Given the description of an element on the screen output the (x, y) to click on. 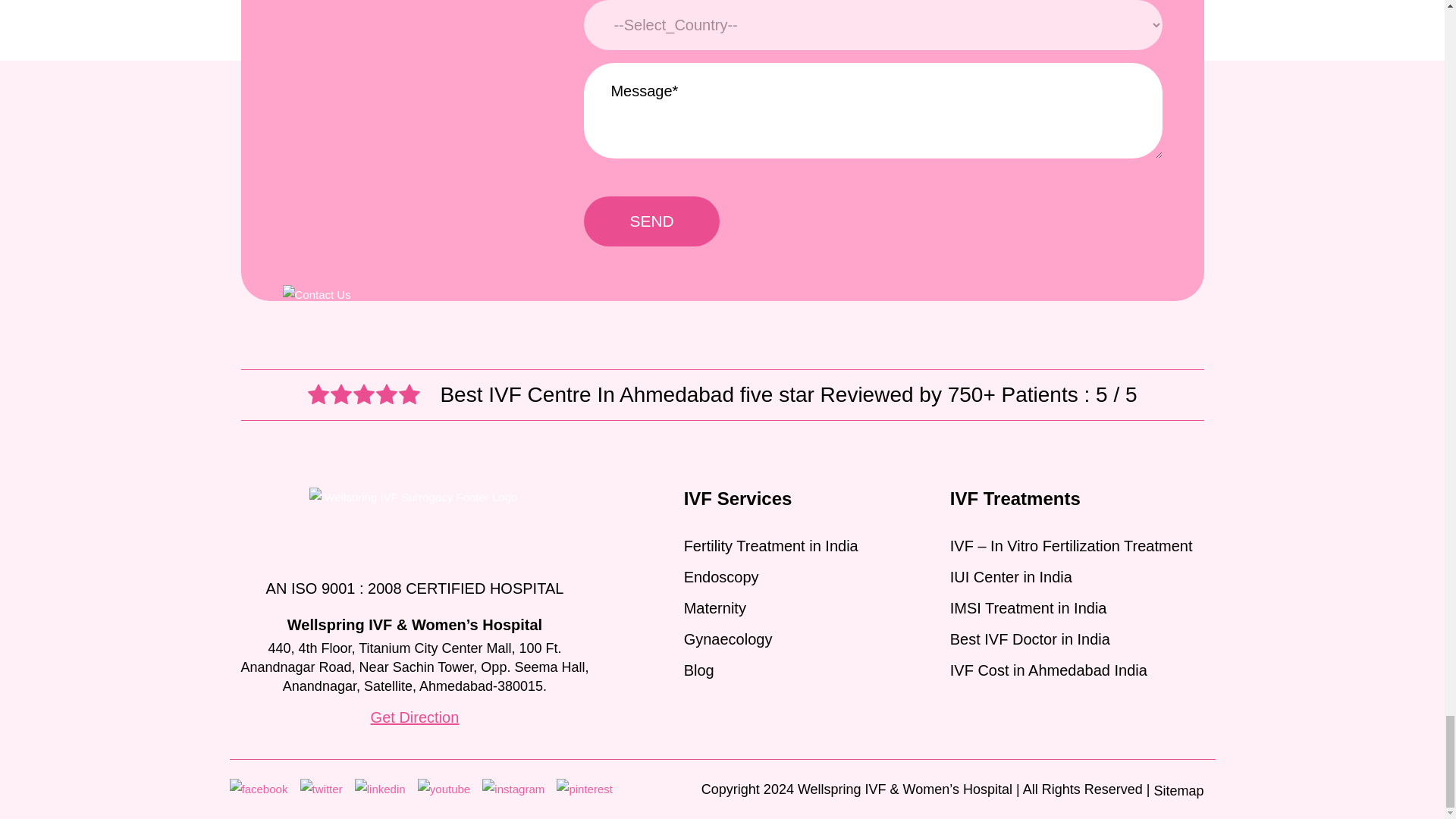
Send (651, 221)
